Given the description of an element on the screen output the (x, y) to click on. 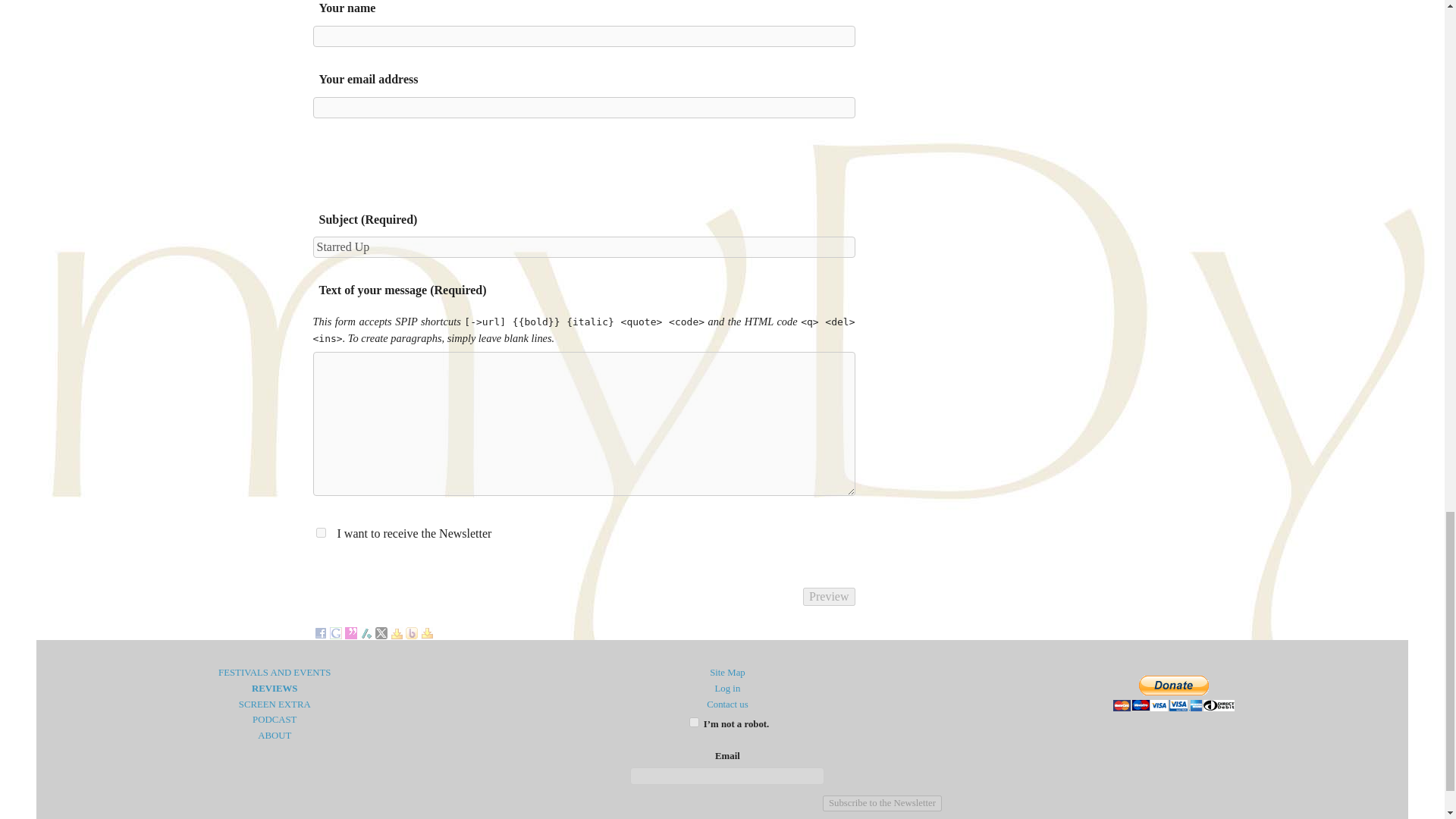
1 (319, 532)
Slashdot (365, 631)
Facebook (320, 631)
Preview (828, 597)
Seenthis (349, 631)
X (380, 631)
Yahoo! MyWeb (426, 631)
Google bookmarks (334, 631)
Preview (828, 597)
1 (693, 722)
